Given the description of an element on the screen output the (x, y) to click on. 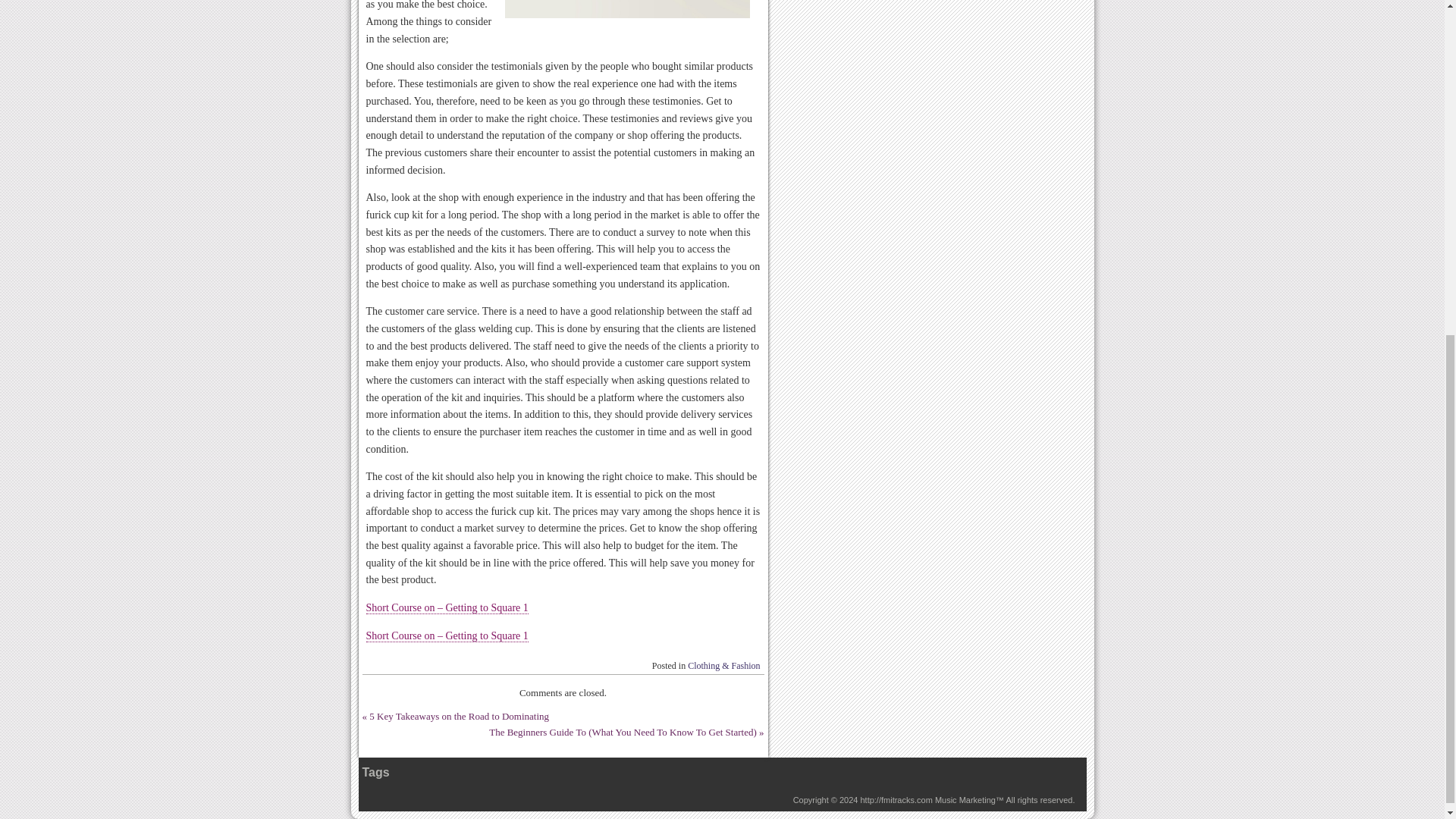
Music Marketing (964, 799)
5 Key Takeaways on the Road to Dominating (458, 715)
